Given the description of an element on the screen output the (x, y) to click on. 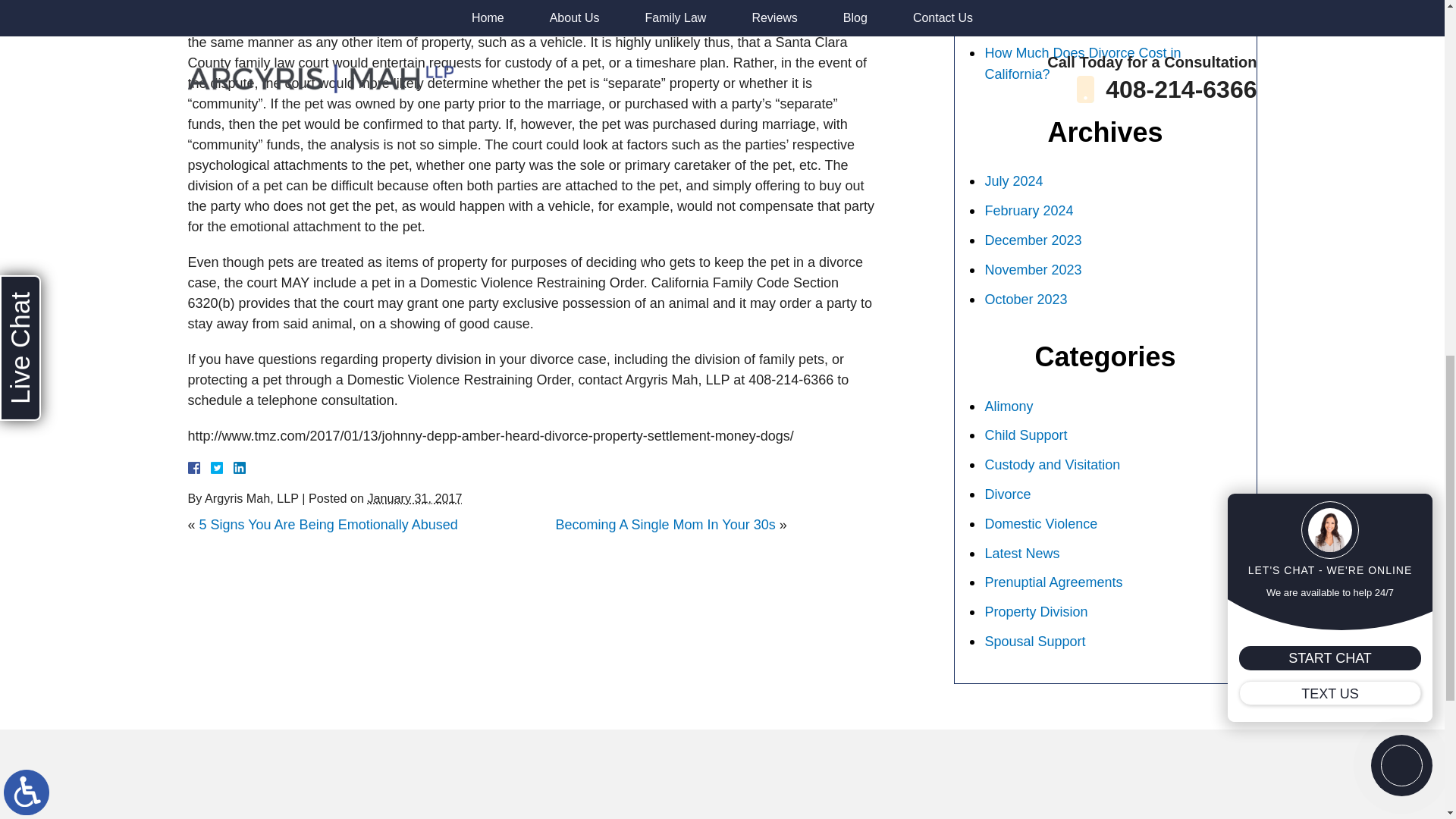
2017-01-31T07:05:24-0800 (413, 498)
default image (300, 2)
Twitter (222, 467)
LinkedIn (233, 467)
Facebook (211, 467)
